Given the description of an element on the screen output the (x, y) to click on. 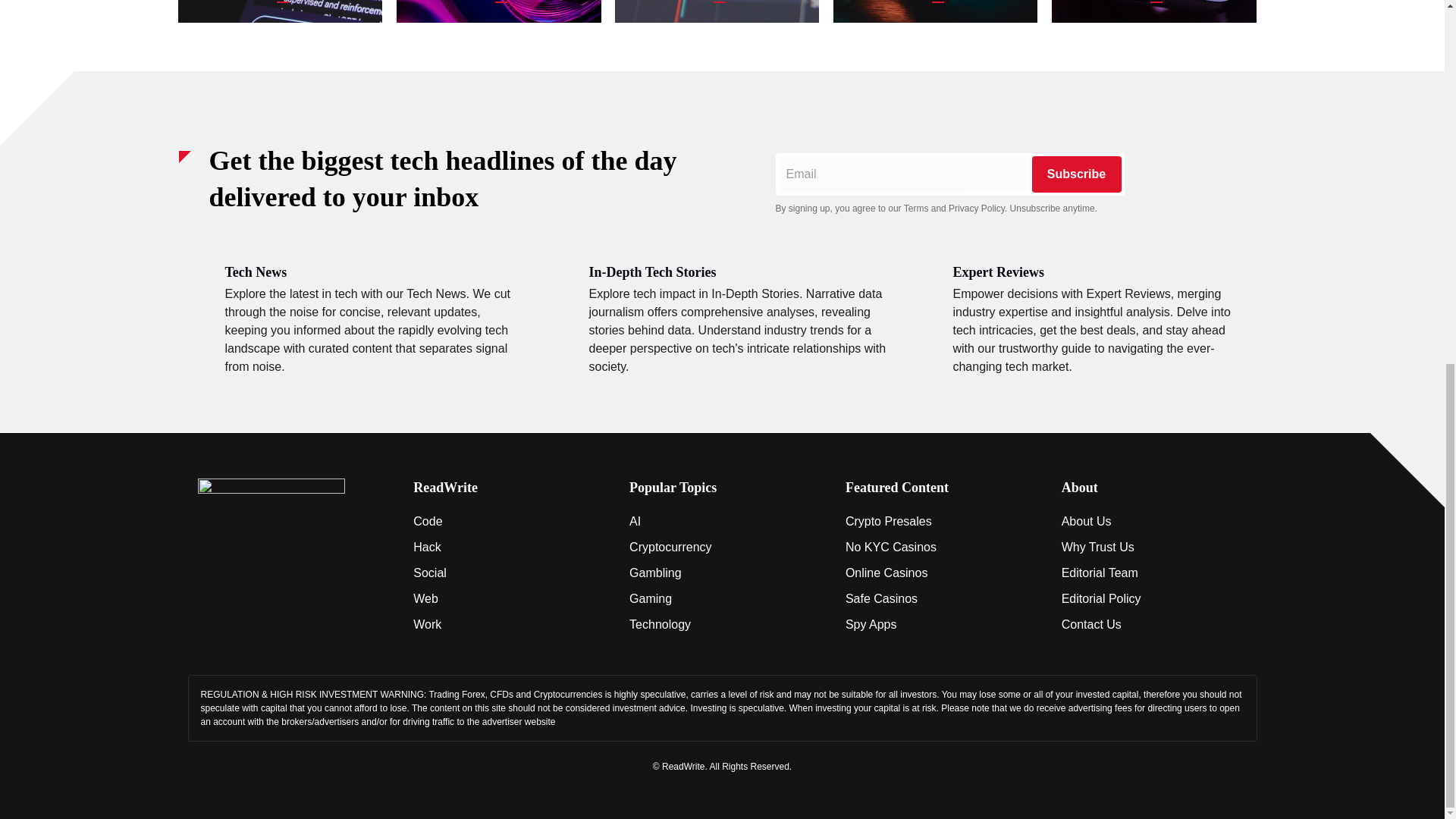
Subscribe (1075, 174)
